Given the description of an element on the screen output the (x, y) to click on. 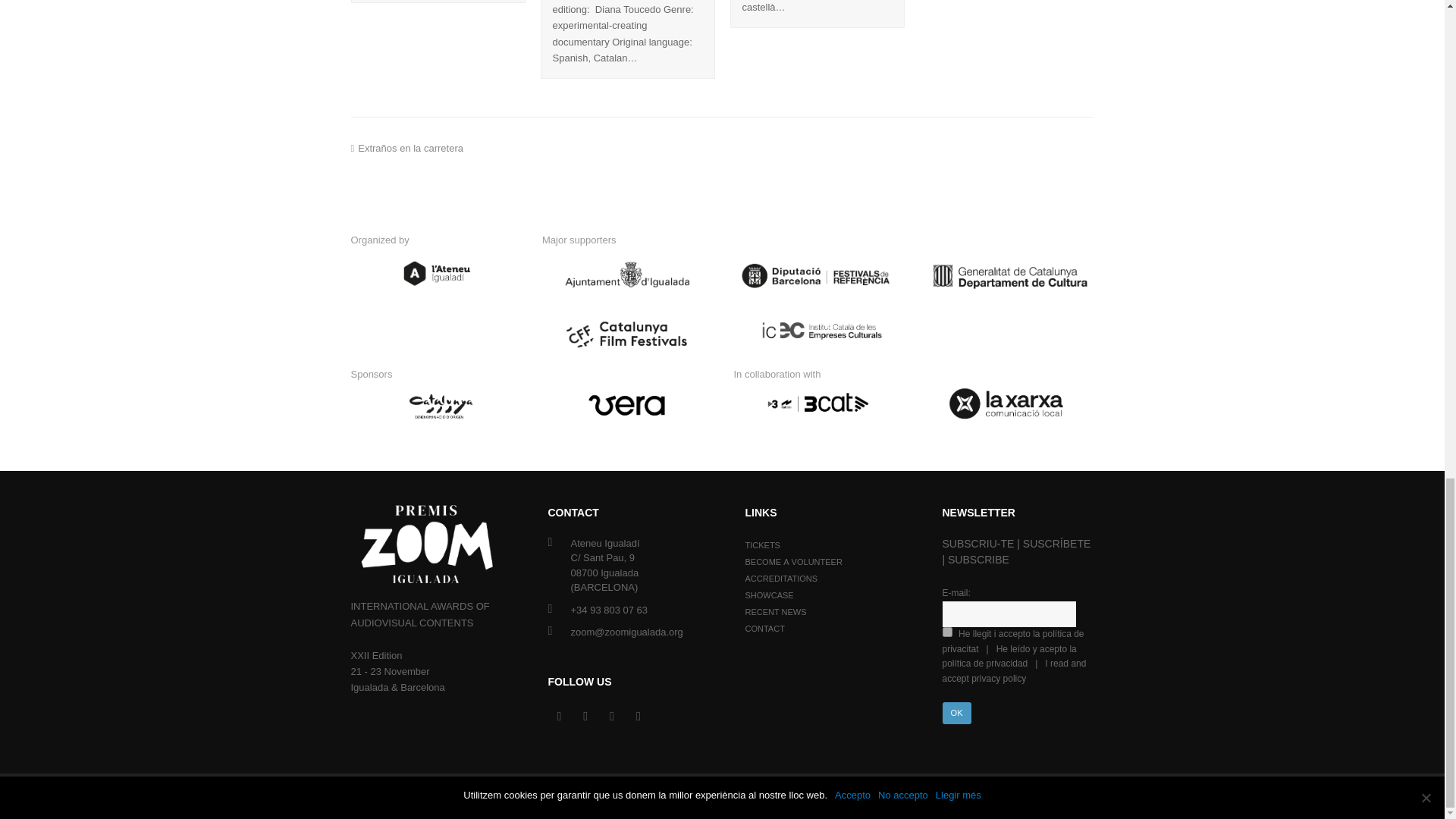
Instagram (611, 716)
Facebook (584, 716)
1 (947, 632)
Twitter (558, 716)
Youtube (638, 716)
OK (956, 712)
